Given the description of an element on the screen output the (x, y) to click on. 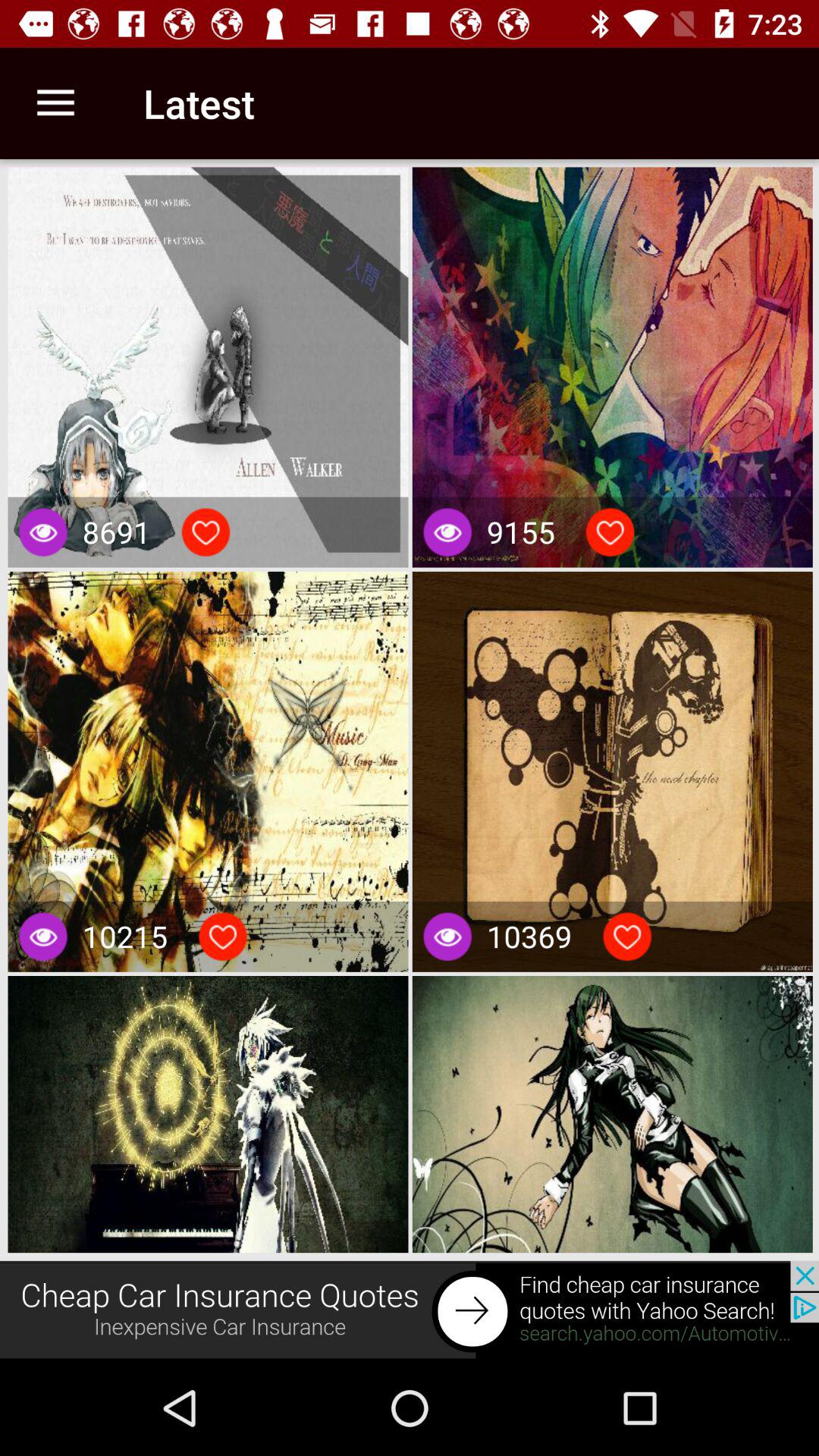
set as favorite (610, 532)
